Given the description of an element on the screen output the (x, y) to click on. 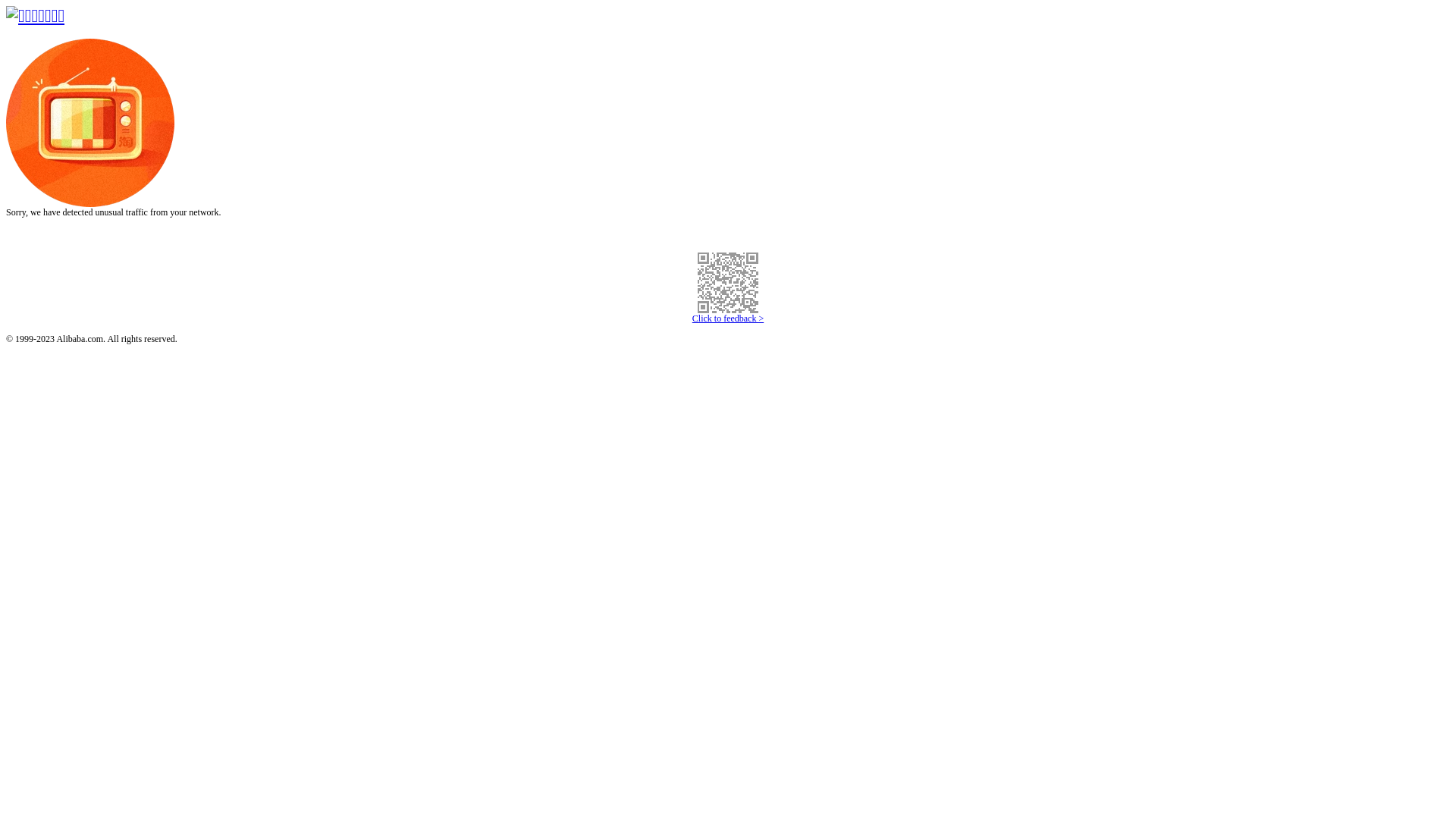
Click to feedback > Element type: text (727, 318)
QWZ5RCU5PfJsVntRSzhbgA|ZWISPw|gqtLDQ_0 Element type: hover (727, 282)
